Given the description of an element on the screen output the (x, y) to click on. 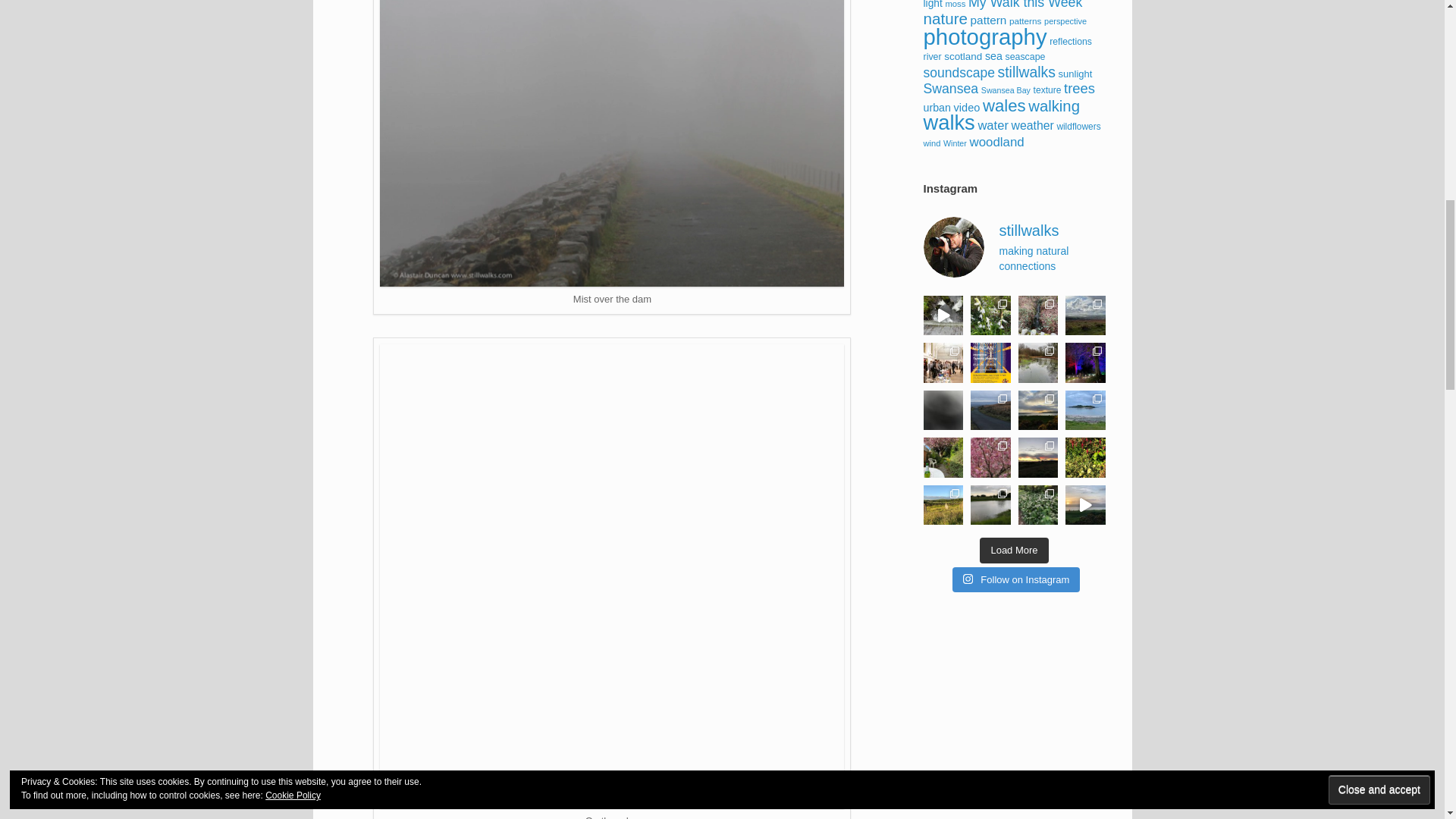
Mist over the dam (612, 143)
